Given the description of an element on the screen output the (x, y) to click on. 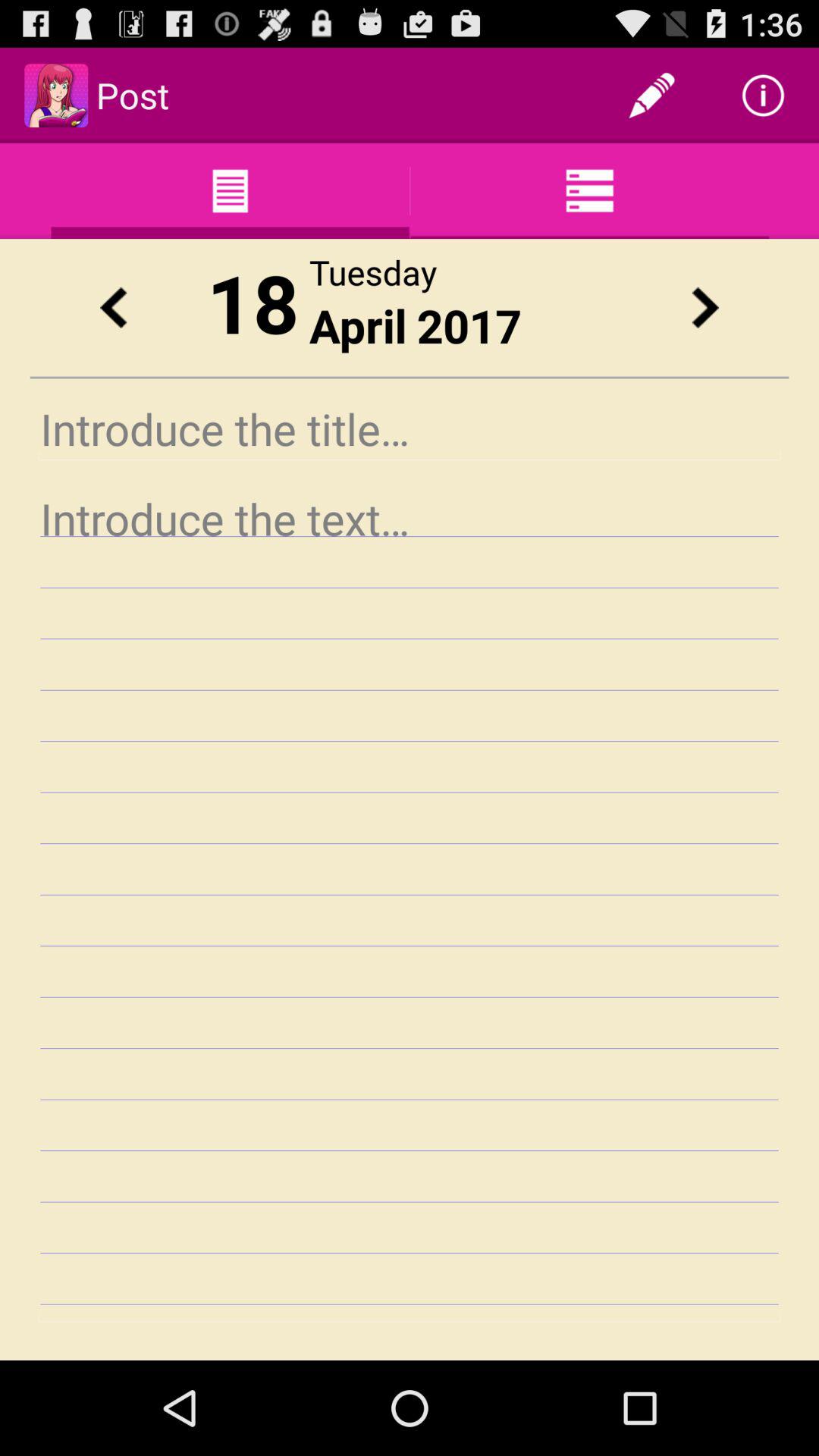
go to next day (704, 307)
